Given the description of an element on the screen output the (x, y) to click on. 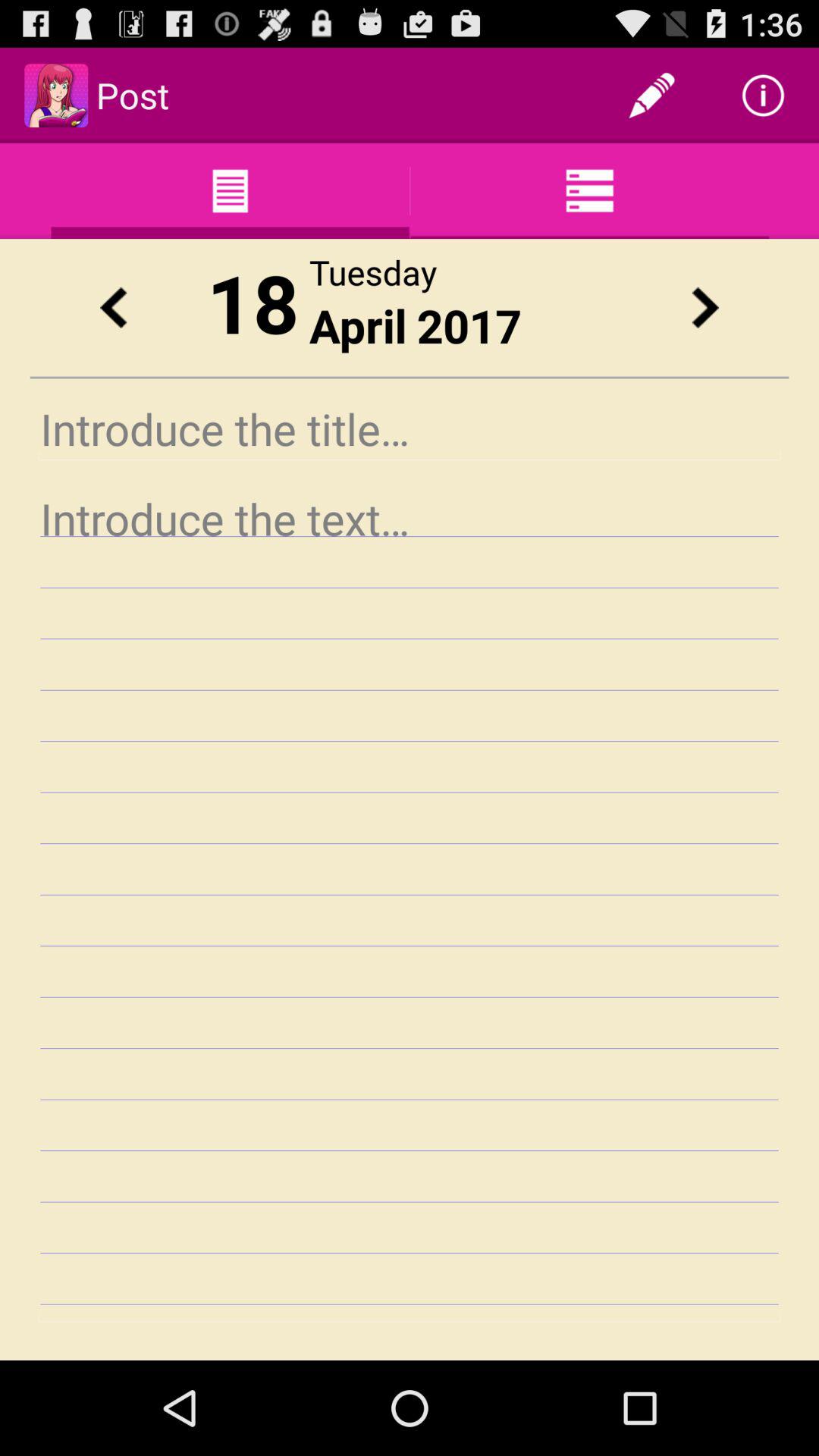
go to next day (704, 307)
